Given the description of an element on the screen output the (x, y) to click on. 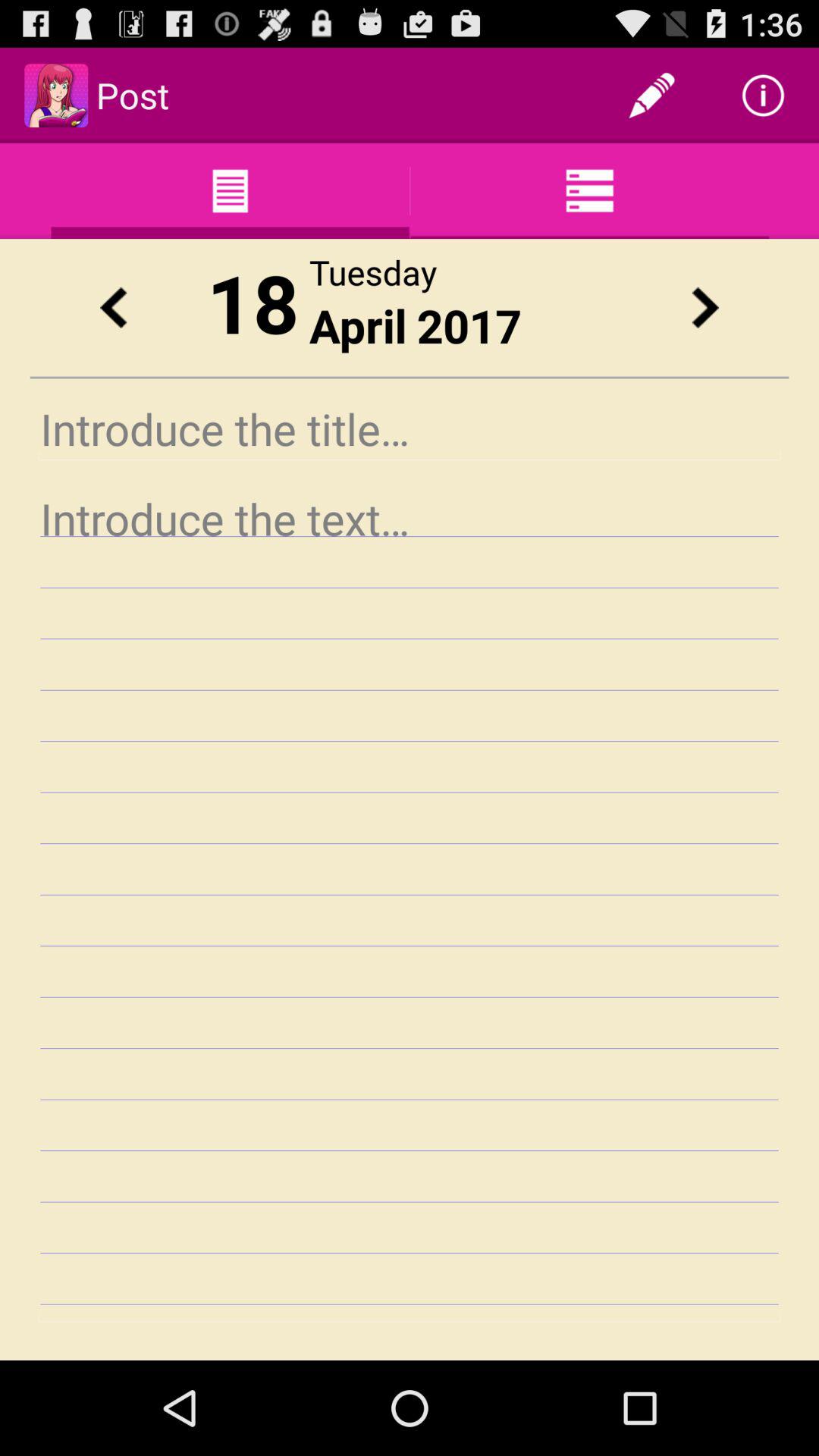
go to next day (704, 307)
